Given the description of an element on the screen output the (x, y) to click on. 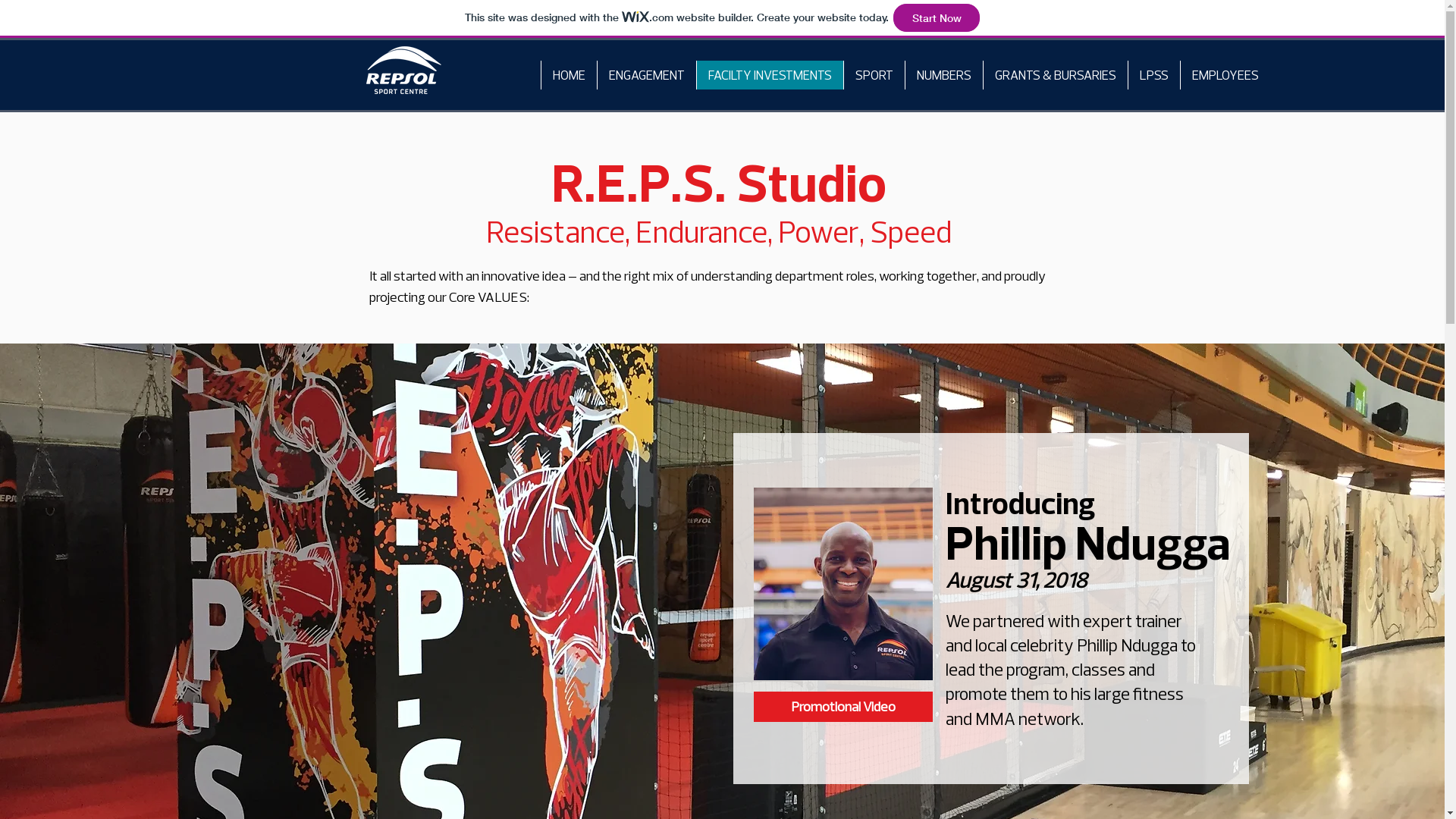
EMPLOYEES Element type: text (1224, 74)
HOME Element type: text (567, 74)
SPORT Element type: text (873, 74)
LPSS Element type: text (1152, 74)
ENGAGEMENT Element type: text (645, 74)
GRANTS & BURSARIES Element type: text (1054, 74)
FACILTY INVESTMENTS Element type: text (769, 74)
Promotional Video Element type: text (842, 706)
NUMBERS Element type: text (942, 74)
